Given the description of an element on the screen output the (x, y) to click on. 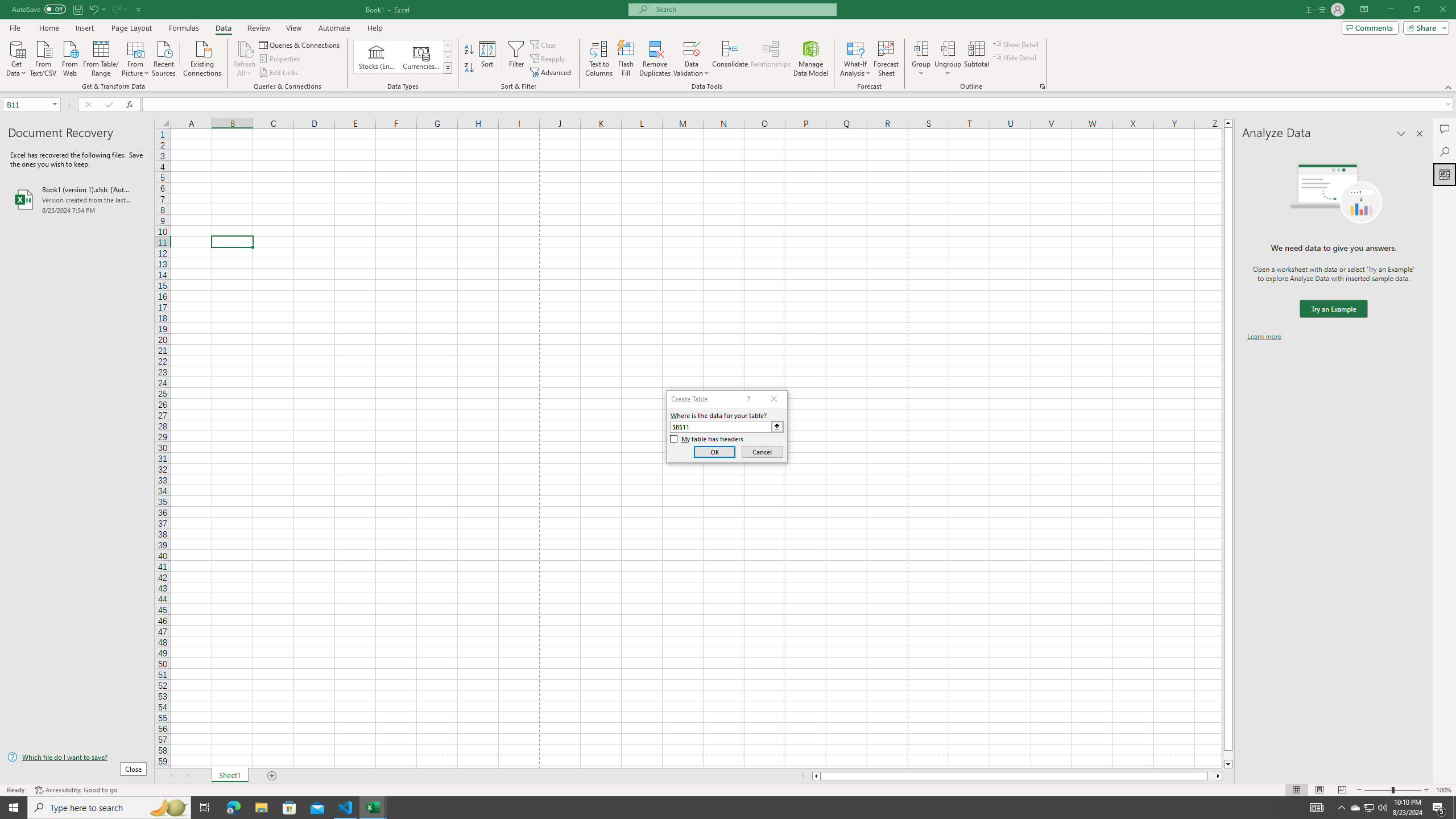
Hide Detail (1014, 56)
Existing Connections (202, 57)
Undo (96, 9)
Row Down (448, 56)
Help (374, 28)
Review (258, 28)
System (6, 6)
Redo (119, 9)
Sort... (487, 58)
Relationships (770, 58)
Advanced... (551, 72)
Ribbon Display Options (1364, 9)
Formula Bar (799, 104)
Ungroup... (947, 58)
Queries & Connections (300, 44)
